Given the description of an element on the screen output the (x, y) to click on. 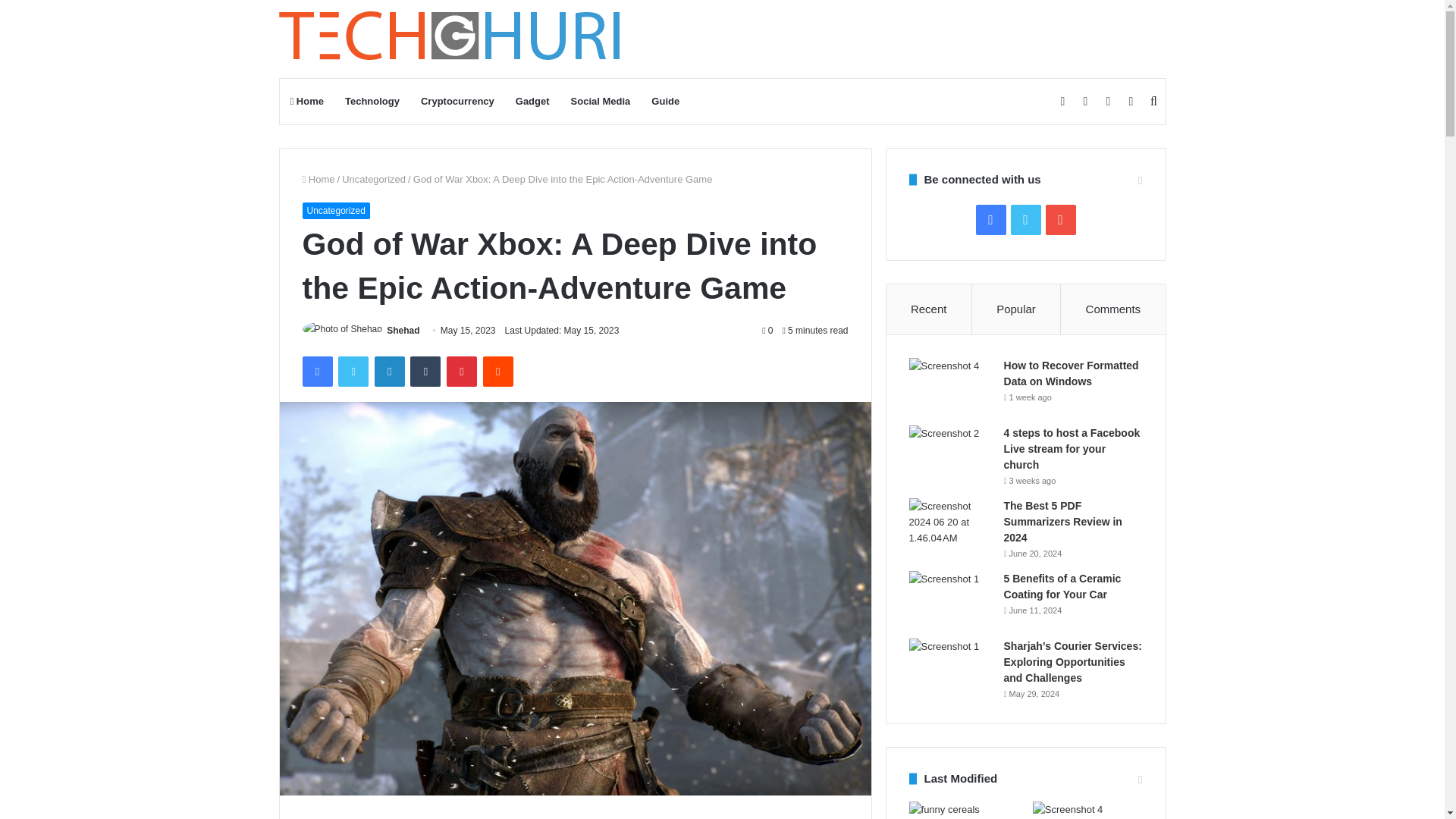
Shehad (403, 330)
TechGhuri (451, 38)
Cryptocurrency (457, 101)
LinkedIn (389, 371)
Uncategorized (335, 210)
Reddit (498, 371)
Home (317, 179)
Pinterest (461, 371)
Facebook (316, 371)
Twitter (352, 371)
